Given the description of an element on the screen output the (x, y) to click on. 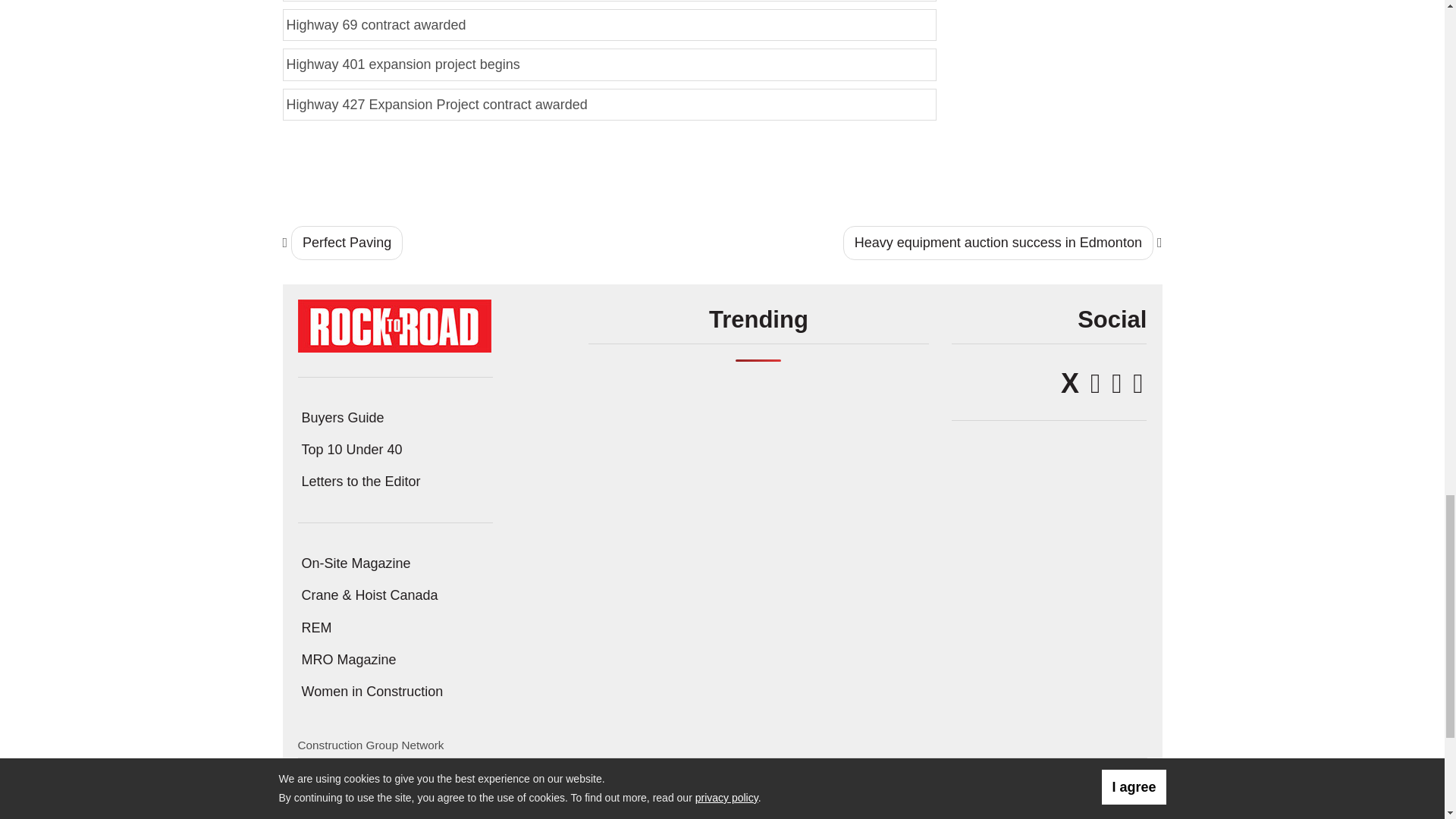
Rock to Road (393, 324)
